Given the description of an element on the screen output the (x, y) to click on. 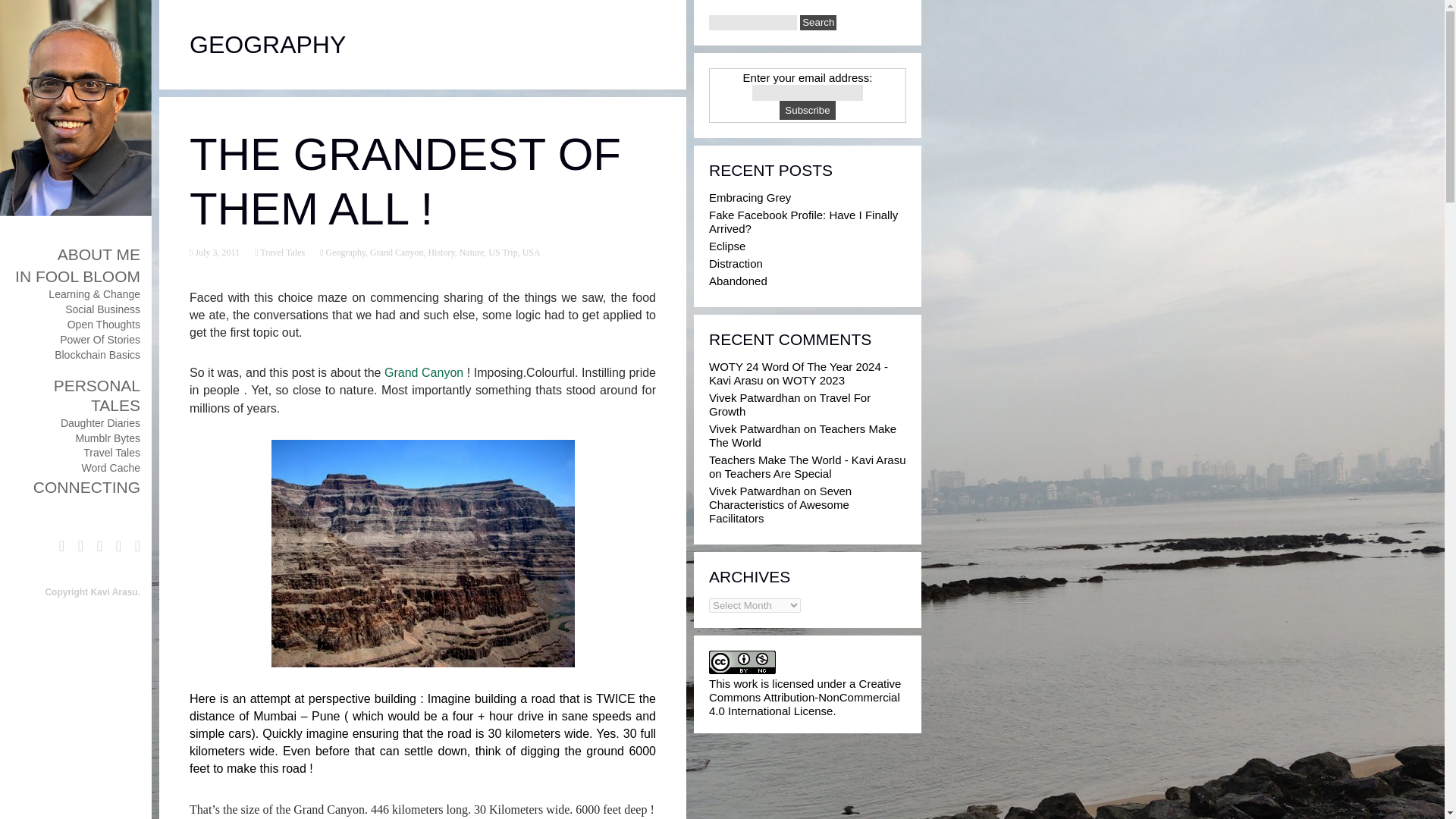
ABOUT ME (98, 253)
USA (531, 252)
Nature (472, 252)
Fake Facebook Profile: Have I Finally Arrived? (803, 221)
Mumblr Bytes (107, 438)
US Trip (501, 252)
Social Business (102, 309)
Permalink to The grandest of them all ! (216, 252)
Subscribe (806, 109)
Geography (344, 252)
Grand Canyon (423, 372)
CONNECTING (86, 487)
Search (817, 22)
Abandoned (738, 280)
Search (817, 22)
